Given the description of an element on the screen output the (x, y) to click on. 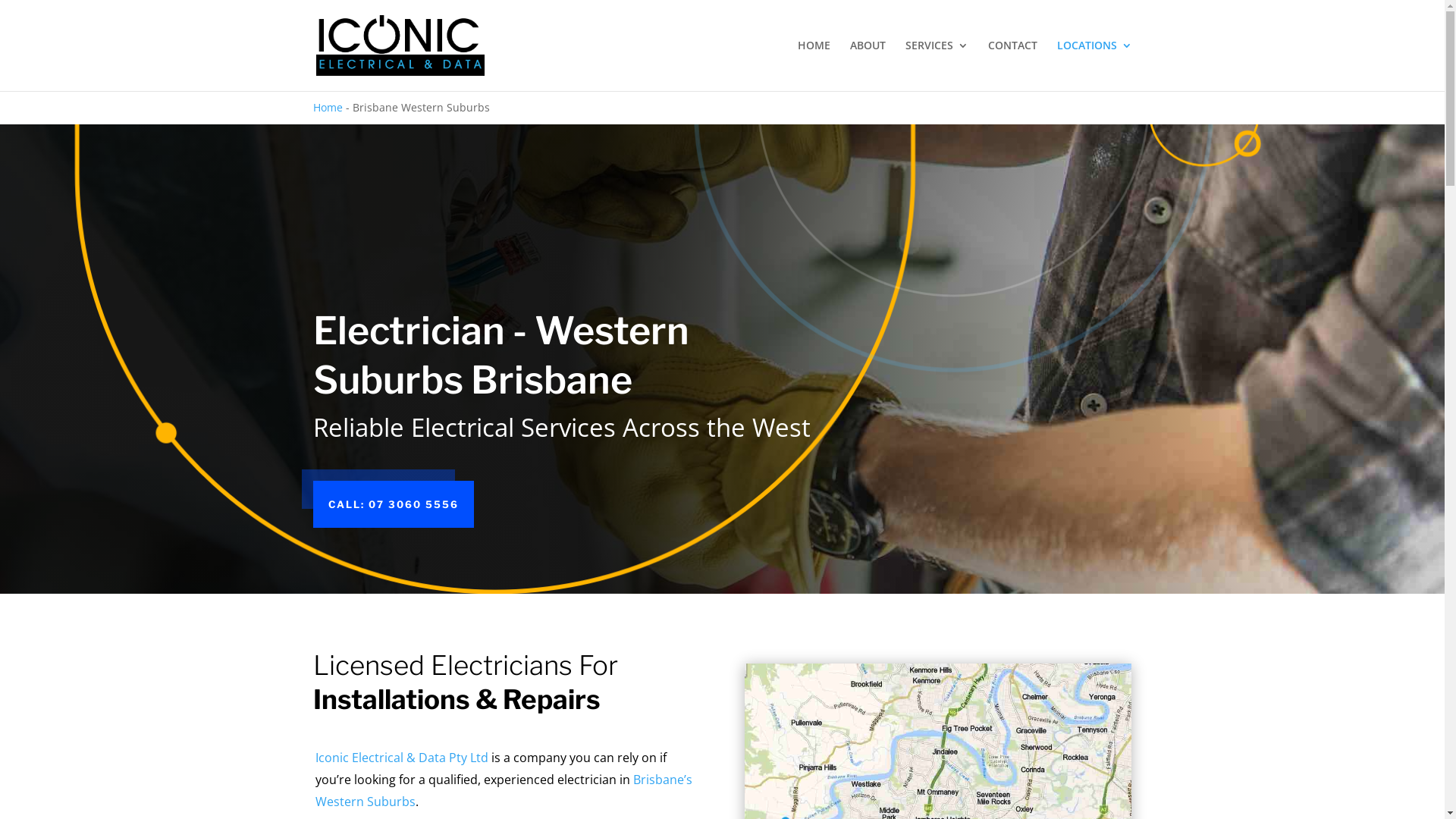
ABOUT Element type: text (866, 57)
SERVICES Element type: text (936, 57)
Iconic Electrical & Data Pty Ltd Element type: text (401, 757)
LOCATIONS Element type: text (1094, 57)
HOME Element type: text (813, 57)
CONTACT Element type: text (1011, 57)
Home Element type: text (327, 107)
CALL: 07 3060 5556 Element type: text (392, 503)
